Given the description of an element on the screen output the (x, y) to click on. 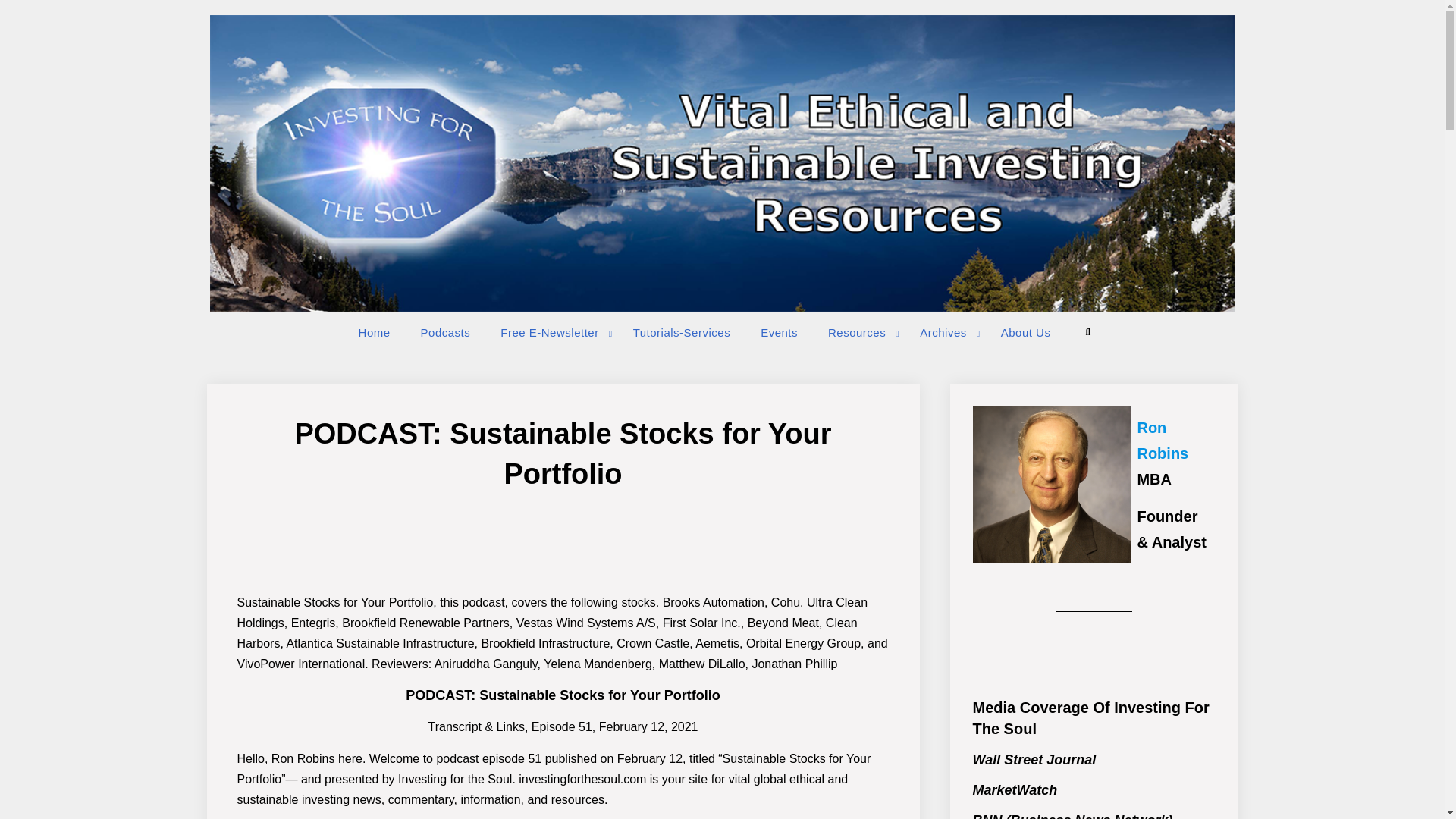
Archives (944, 332)
Search (1087, 332)
Tutorials-Services (681, 332)
Resources (858, 332)
About Us (1025, 332)
Free E-Newsletter (550, 332)
Events (778, 332)
Podcasts (446, 332)
Home (374, 332)
